Given the description of an element on the screen output the (x, y) to click on. 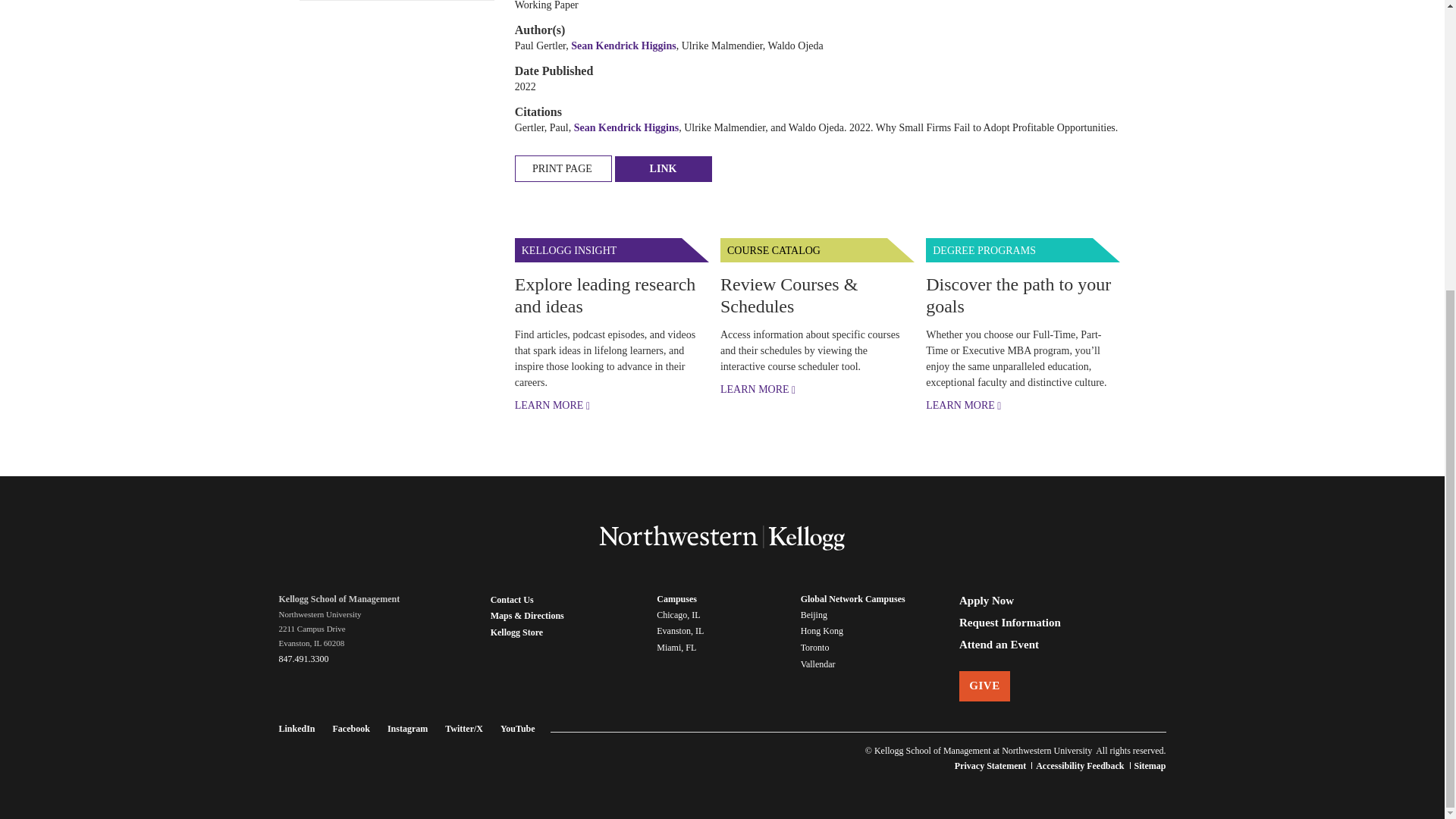
PRINT PAGE (563, 168)
